Given the description of an element on the screen output the (x, y) to click on. 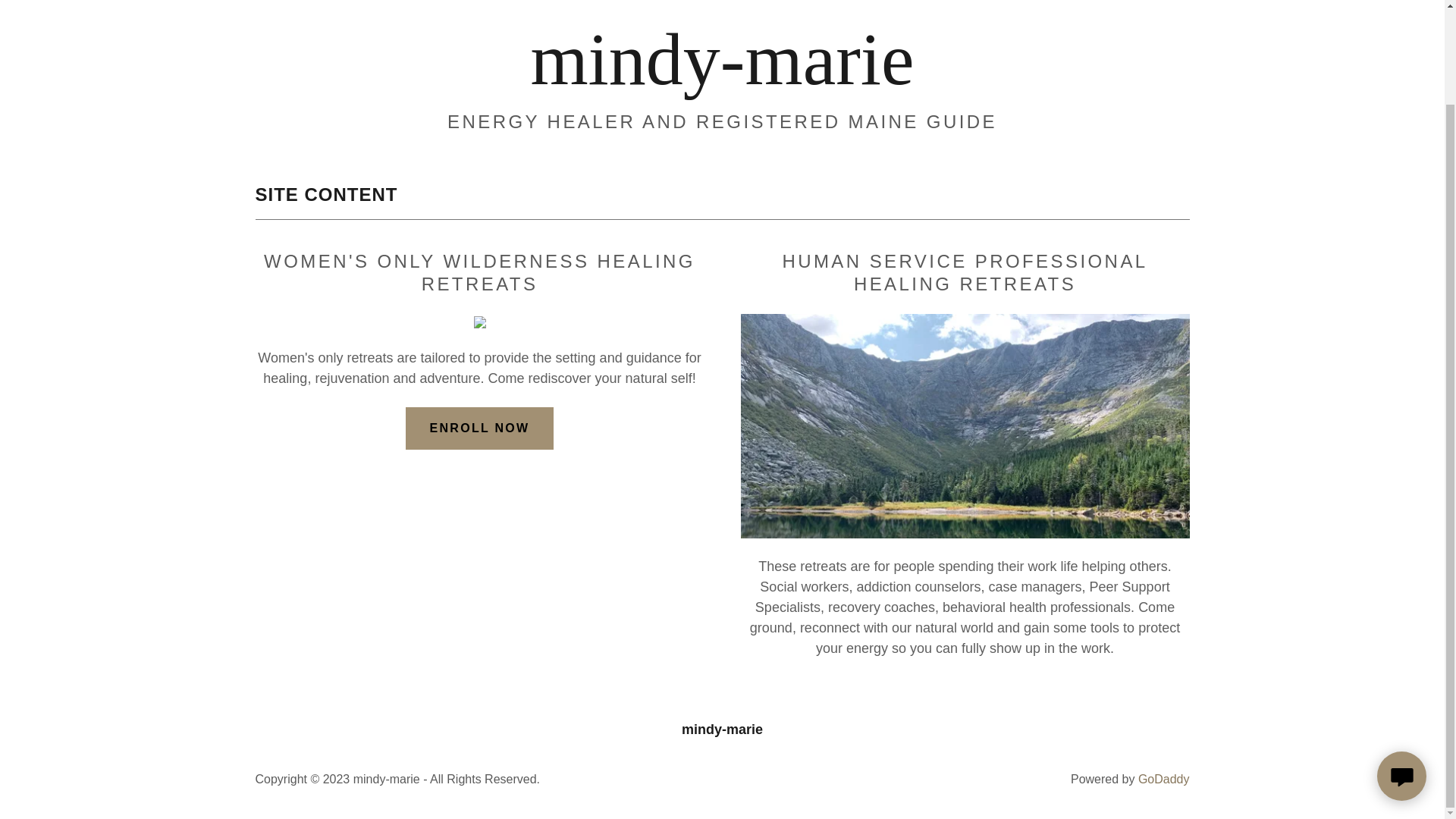
ENROLL NOW (480, 428)
mindy-marie (721, 79)
mindy-marie (721, 79)
